Given the description of an element on the screen output the (x, y) to click on. 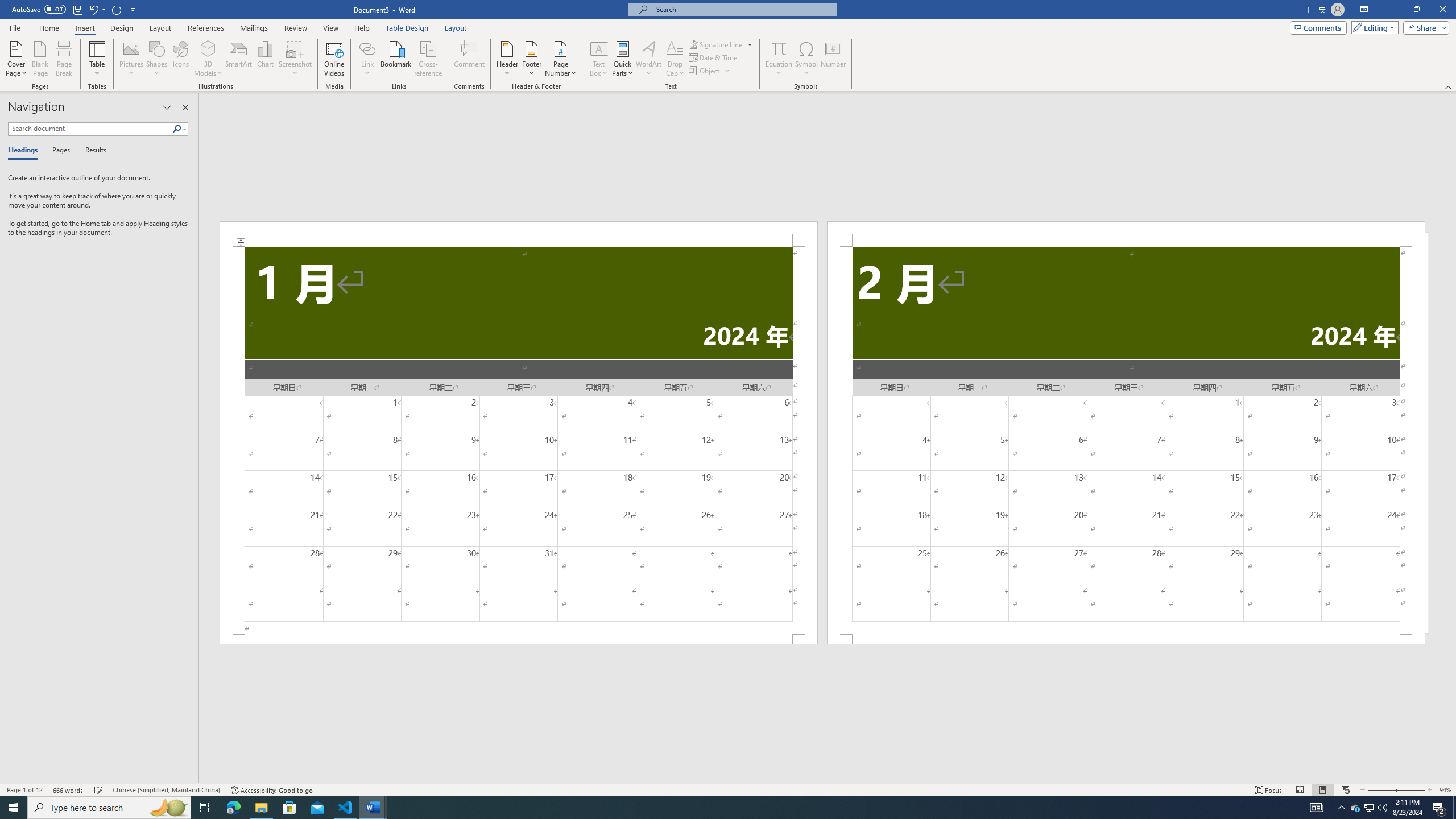
Table (97, 58)
Drop Cap (674, 58)
Quick Parts (622, 58)
Table Design (407, 28)
